Given the description of an element on the screen output the (x, y) to click on. 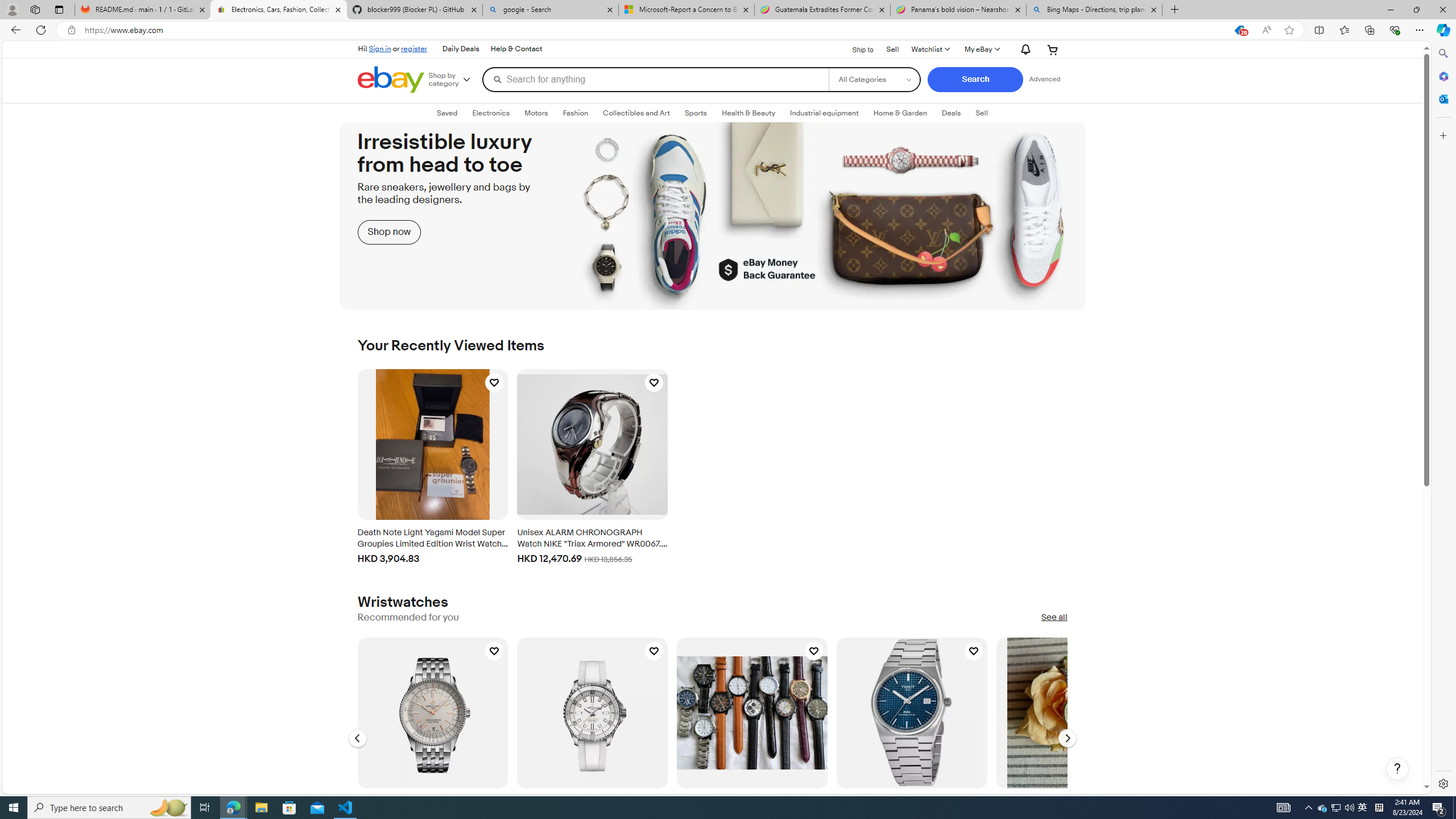
Industrial equipmentExpand: Industrial equipment (824, 112)
Help & Contact (515, 49)
Help & Contact (516, 49)
Health & BeautyExpand: Health & Beauty (748, 112)
Advanced Search (1044, 78)
